Given the description of an element on the screen output the (x, y) to click on. 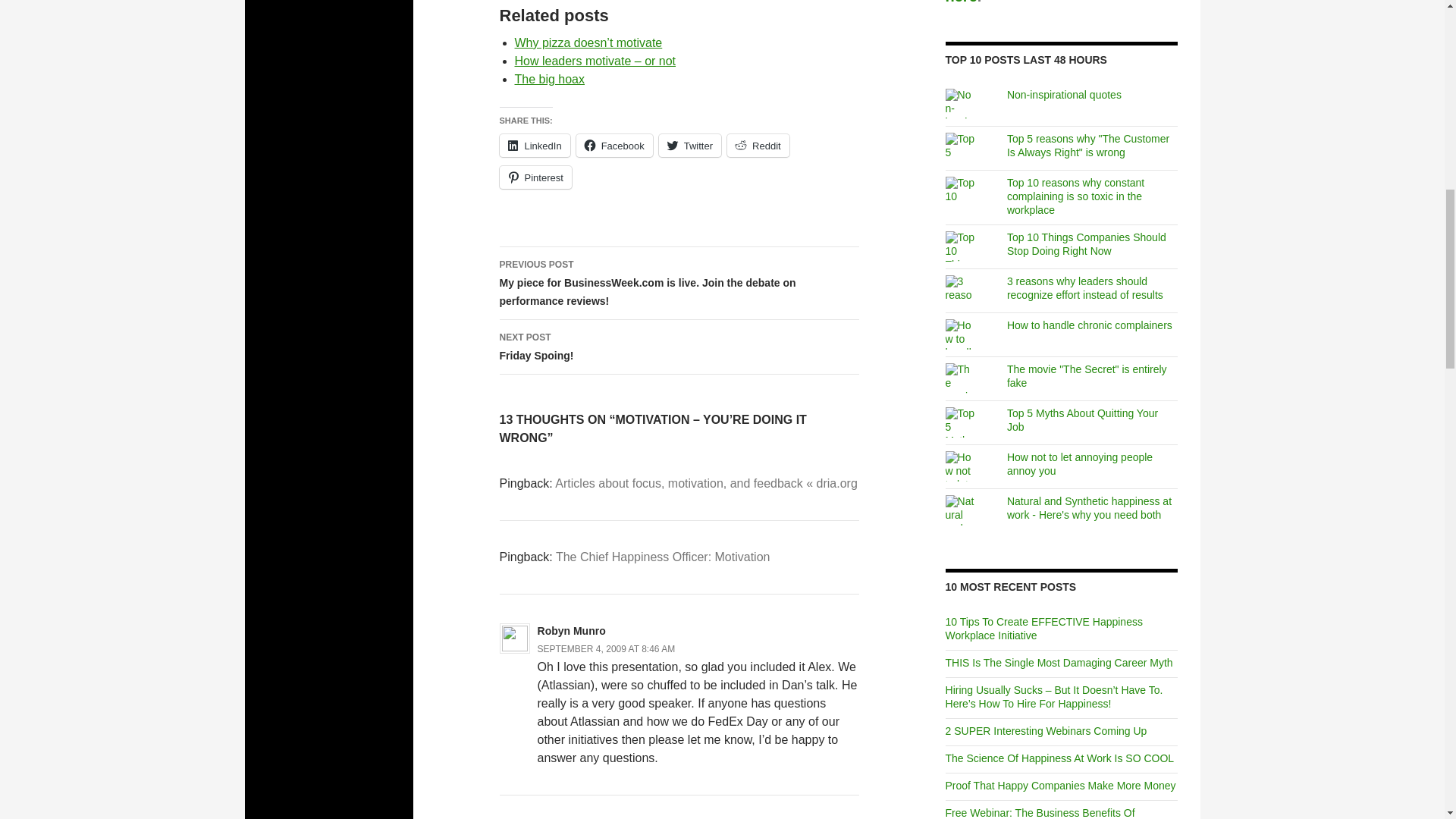
Click to share on LinkedIn (534, 145)
The big hoax (549, 78)
Top 5 reasons why "The Customer Is Always Right" is wrong (1088, 145)
Click to share on Pinterest (534, 177)
Click to share on Twitter (689, 145)
SEPTEMBER 4, 2009 AT 8:46 AM (606, 648)
Pinterest (534, 177)
The Chief Happiness Officer: Motivation (663, 556)
Facebook (614, 145)
Click to share on Reddit (757, 145)
Non-inspirational quotes (679, 347)
Click to share on Facebook (1064, 94)
LinkedIn (614, 145)
